Given the description of an element on the screen output the (x, y) to click on. 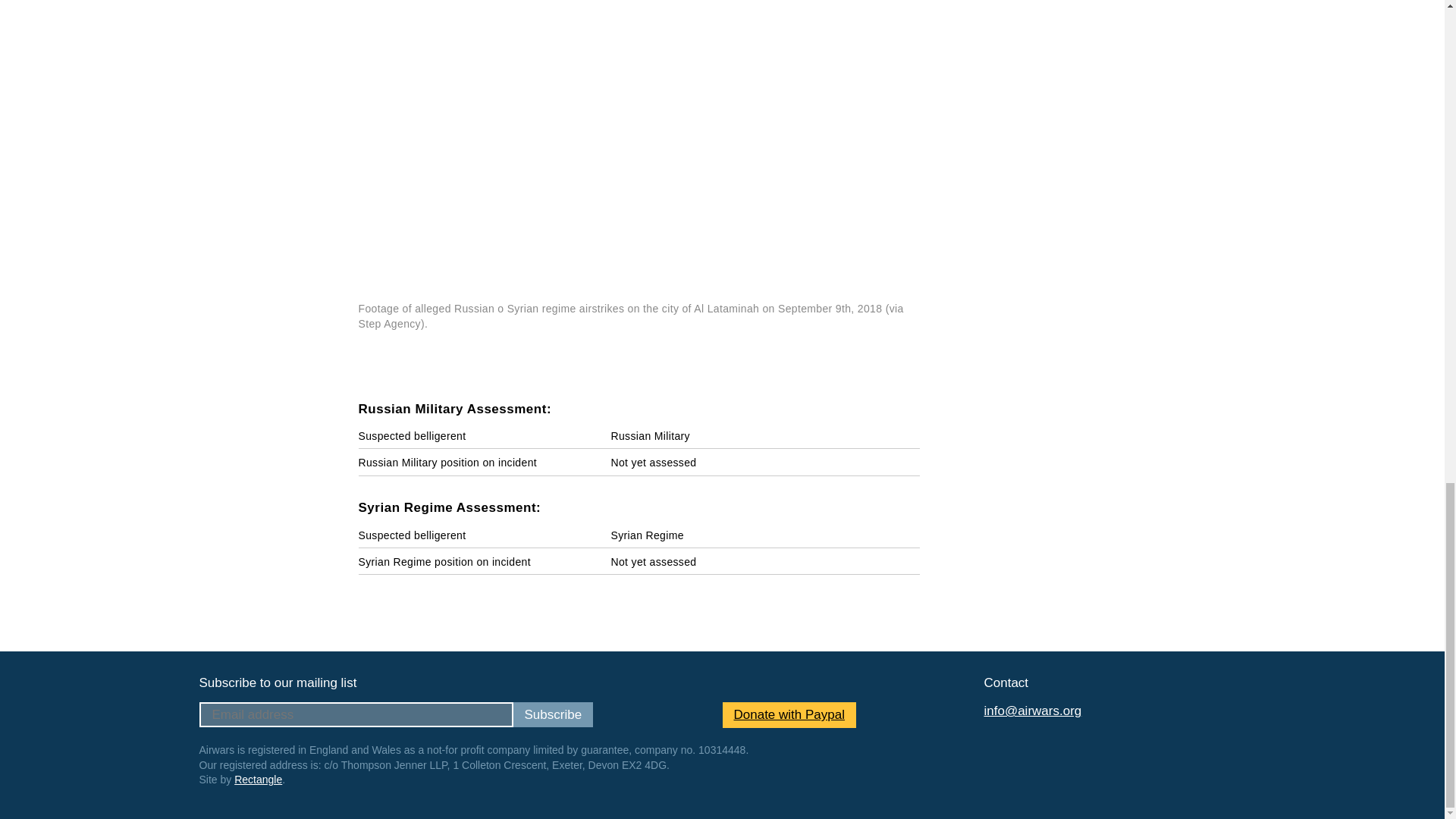
Subscribe (552, 714)
